Given the description of an element on the screen output the (x, y) to click on. 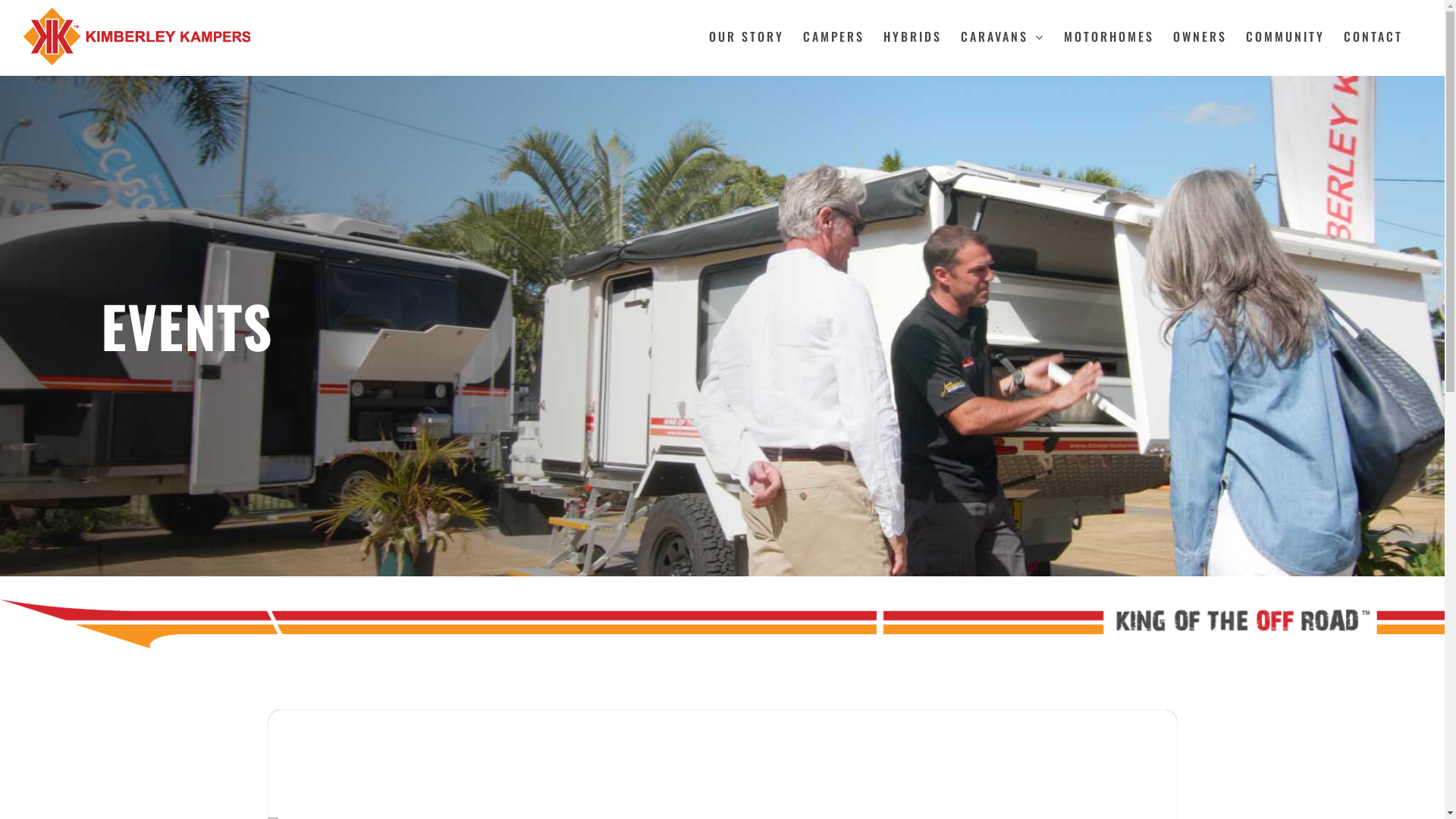
COMMUNITY Element type: text (1284, 36)
CARAVANS Element type: text (1002, 36)
OUR STORY Element type: text (746, 36)
CAMPERS Element type: text (833, 36)
OWNERS Element type: text (1199, 36)
KimberlyKruiser_lines-left-4K Element type: hover (722, 623)
MOTORHOMES Element type: text (1108, 36)
CONTACT Element type: text (1372, 36)
HYBRIDS Element type: text (912, 36)
